Given the description of an element on the screen output the (x, y) to click on. 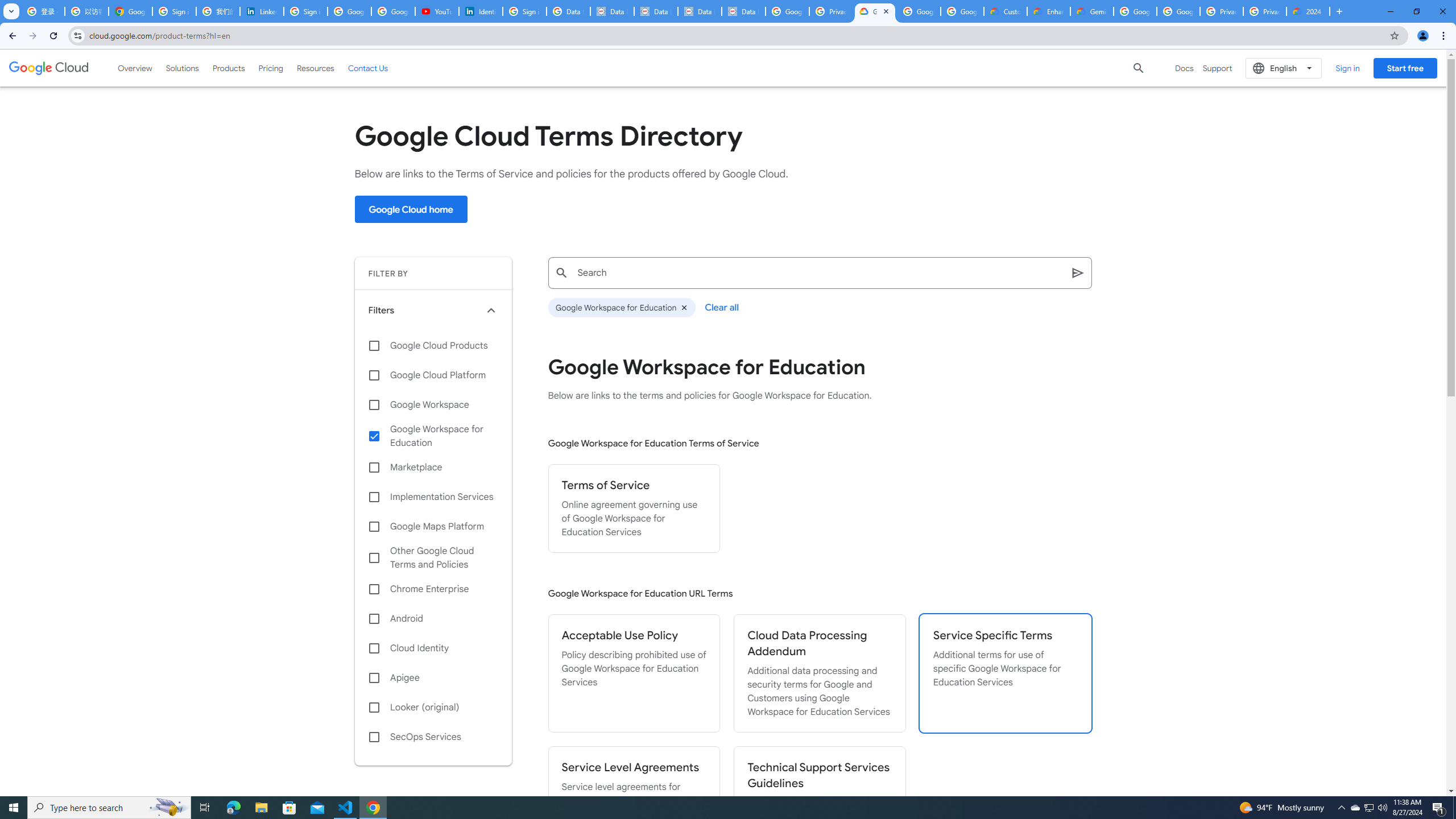
Chrome Enterprise (432, 589)
Google Cloud Products (432, 345)
Sign in - Google Accounts (524, 11)
Google Cloud home (410, 208)
Google Maps Platform (432, 526)
